Given the description of an element on the screen output the (x, y) to click on. 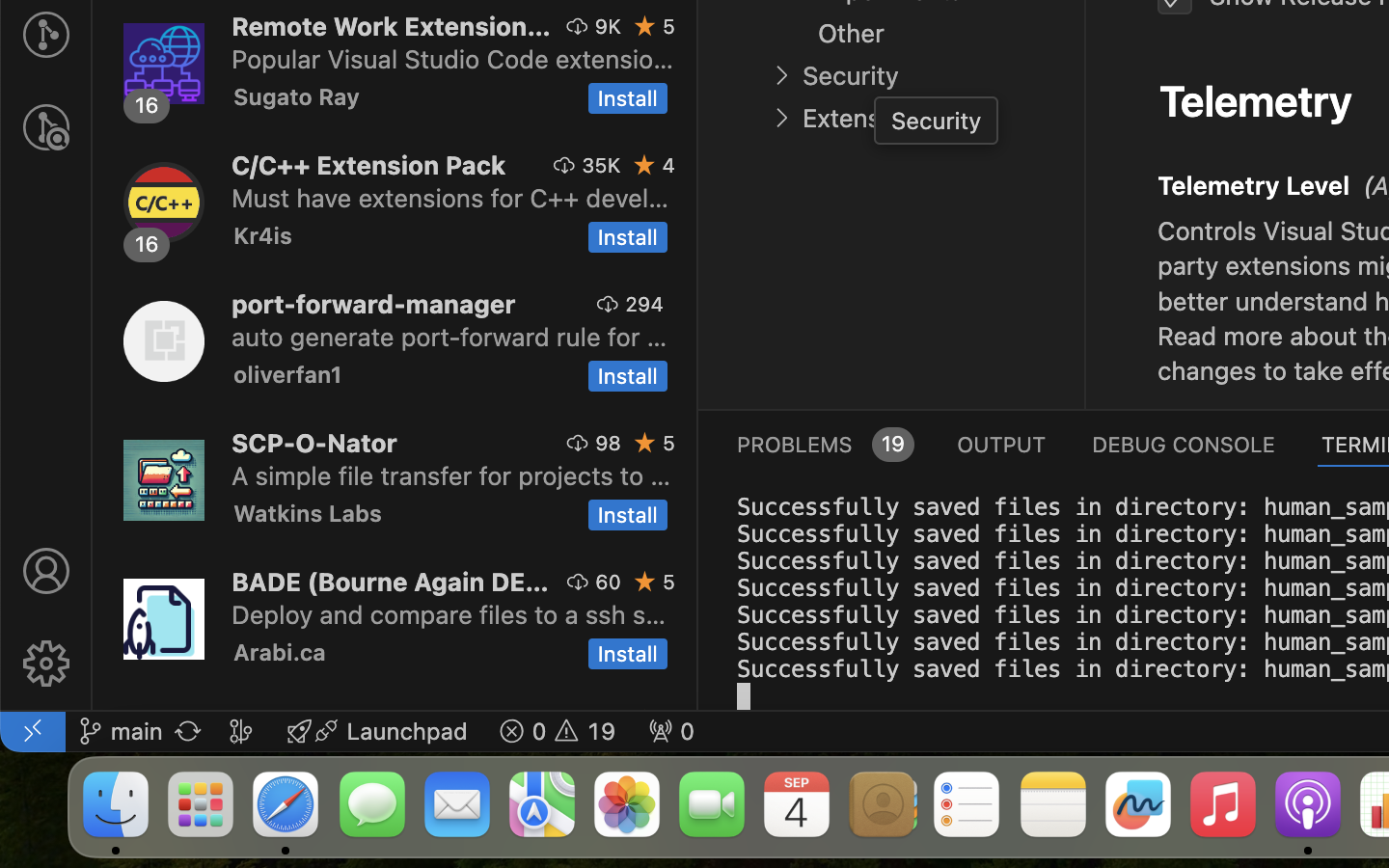
Telemetry Element type: AXStaticText (1255, 100)
SCP-O-Nator Element type: AXStaticText (314, 442)
 Element type: AXStaticText (1108, 180)
60 Element type: AXStaticText (608, 581)
0 OUTPUT Element type: AXRadioButton (1001, 443)
